Given the description of an element on the screen output the (x, y) to click on. 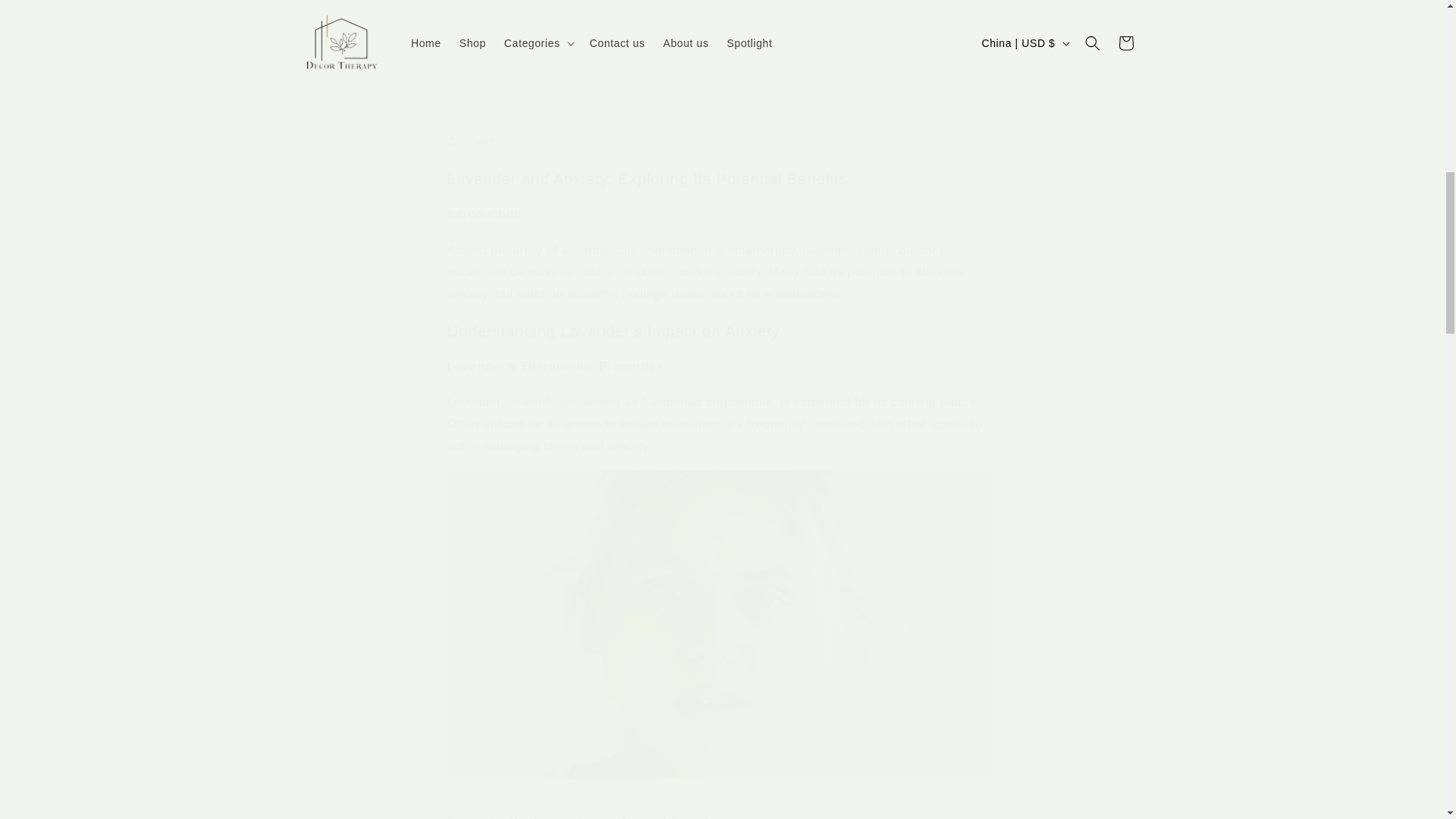
Share (721, 141)
Lavender essential oil from thedecortherapy. (829, 250)
